Given the description of an element on the screen output the (x, y) to click on. 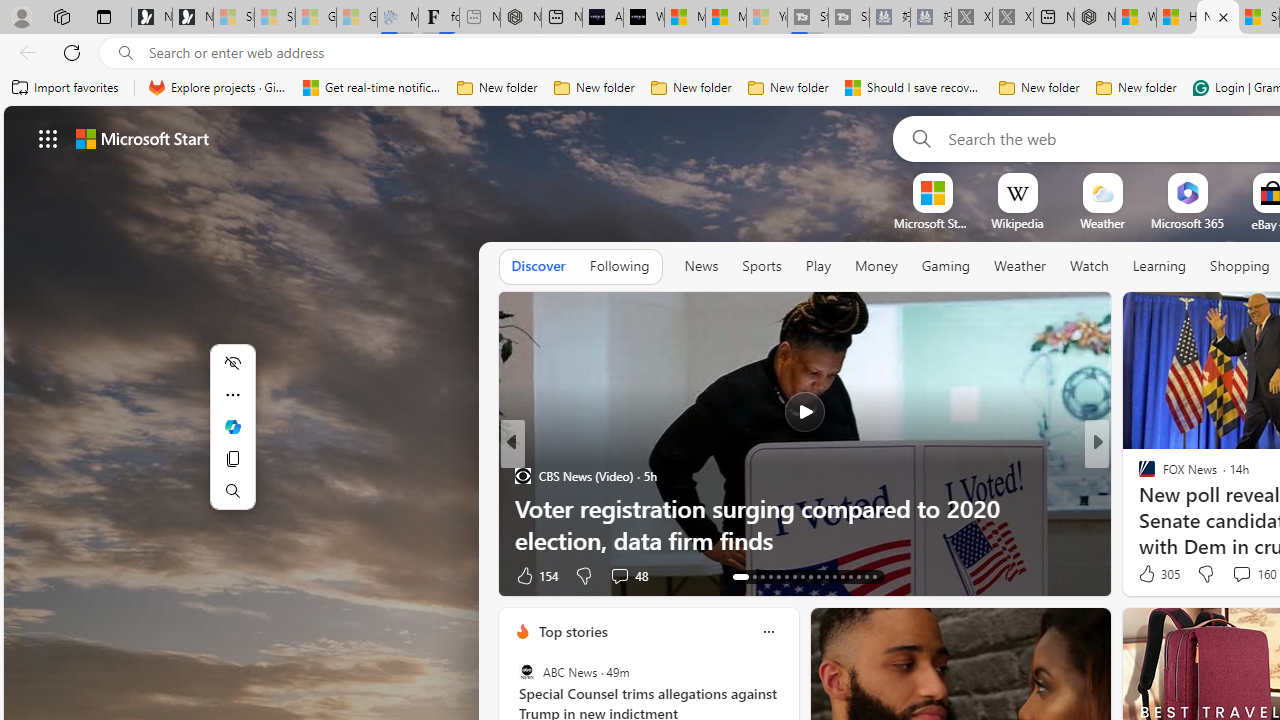
20 Like (1149, 574)
98 Like (1149, 574)
Sports (761, 265)
Reuters (1138, 475)
Wikipedia (1017, 223)
View comments 160 Comment (1241, 573)
View comments 6 Comment (1241, 574)
Close tab (1222, 16)
Following (619, 267)
More options (768, 631)
Watch (1089, 265)
Thrift My Life (1138, 475)
Learning (1159, 265)
Learning (1159, 267)
Microsoft start (142, 138)
